Given the description of an element on the screen output the (x, y) to click on. 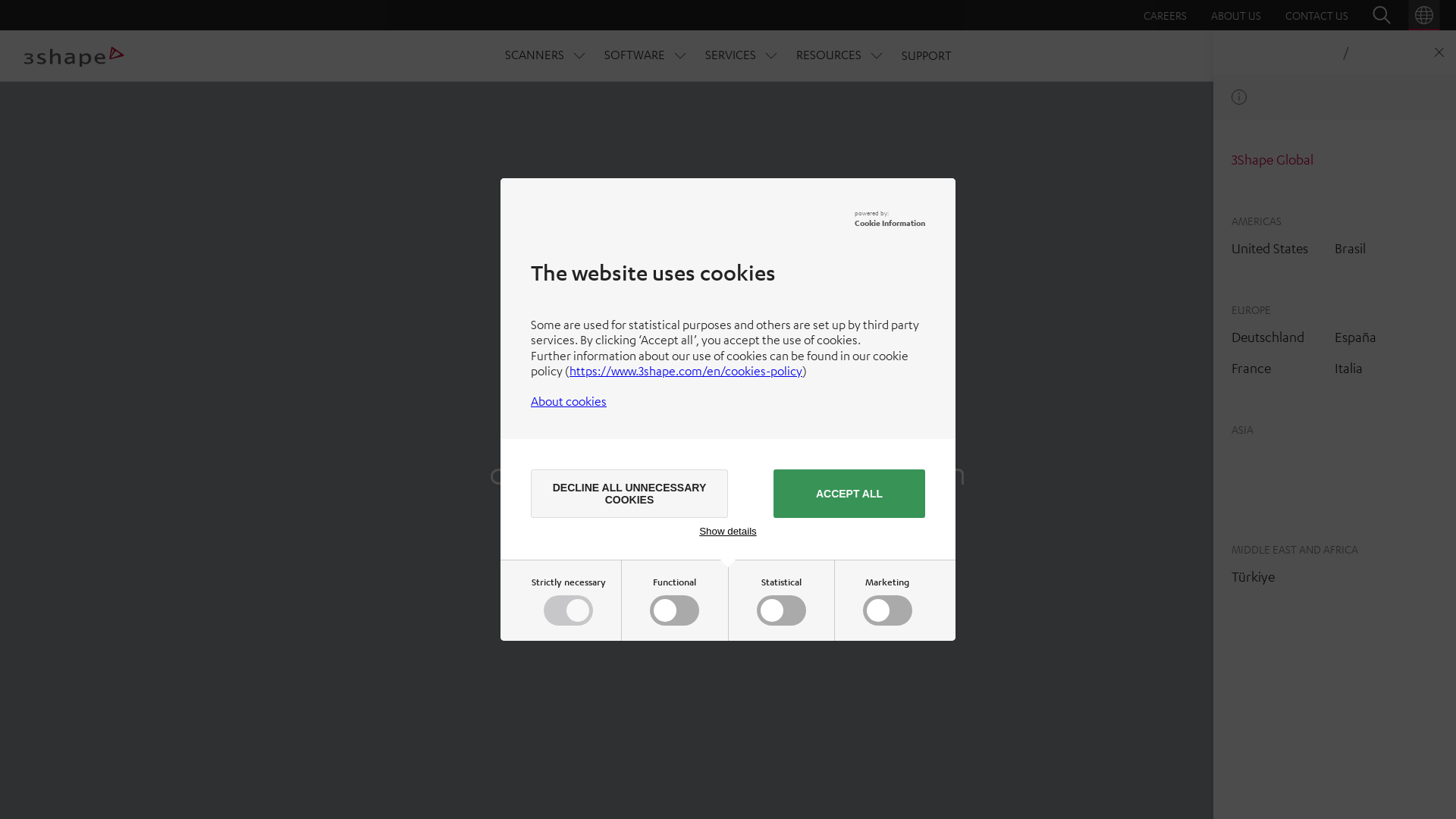
on Element type: text (784, 612)
3Shape Global Element type: text (1272, 158)
ABOUT US Element type: text (1236, 14)
United States Element type: text (1269, 247)
About cookies Element type: text (568, 400)
https://www.3shape.com/en/cookies-policy Element type: text (685, 370)
DECLINE ALL UNNECESSARY COOKIES Element type: text (629, 493)
on Element type: text (677, 612)
Show details Element type: text (727, 530)
Deutschland Element type: text (1267, 336)
ACCEPT ALL Element type: text (849, 493)
CONTACT US Element type: text (1316, 14)
Italia Element type: text (1348, 367)
Cookie Information Element type: text (889, 222)
CAREERS Element type: text (1164, 14)
SUPPORT Element type: text (925, 55)
3Shape Element type: hover (73, 56)
on Element type: text (890, 612)
REQUEST DEMO Element type: text (1372, 55)
Brasil Element type: text (1349, 247)
France Element type: text (1250, 367)
